Given the description of an element on the screen output the (x, y) to click on. 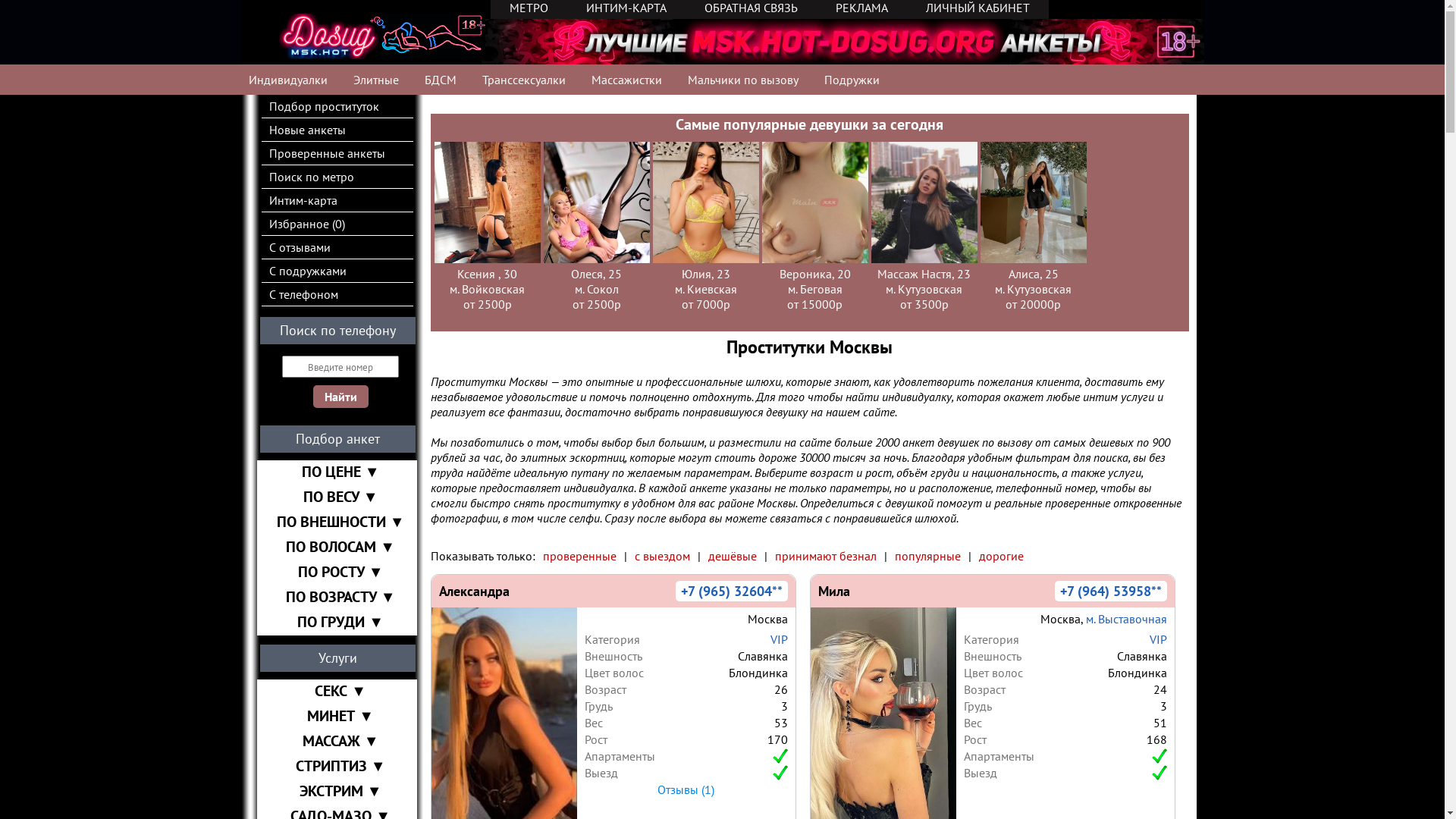
+7 (965) 32604** Element type: text (731, 590)
VIP Element type: text (778, 638)
+7 (964) 53958** Element type: text (1110, 590)
VIP Element type: text (1158, 638)
